Given the description of an element on the screen output the (x, y) to click on. 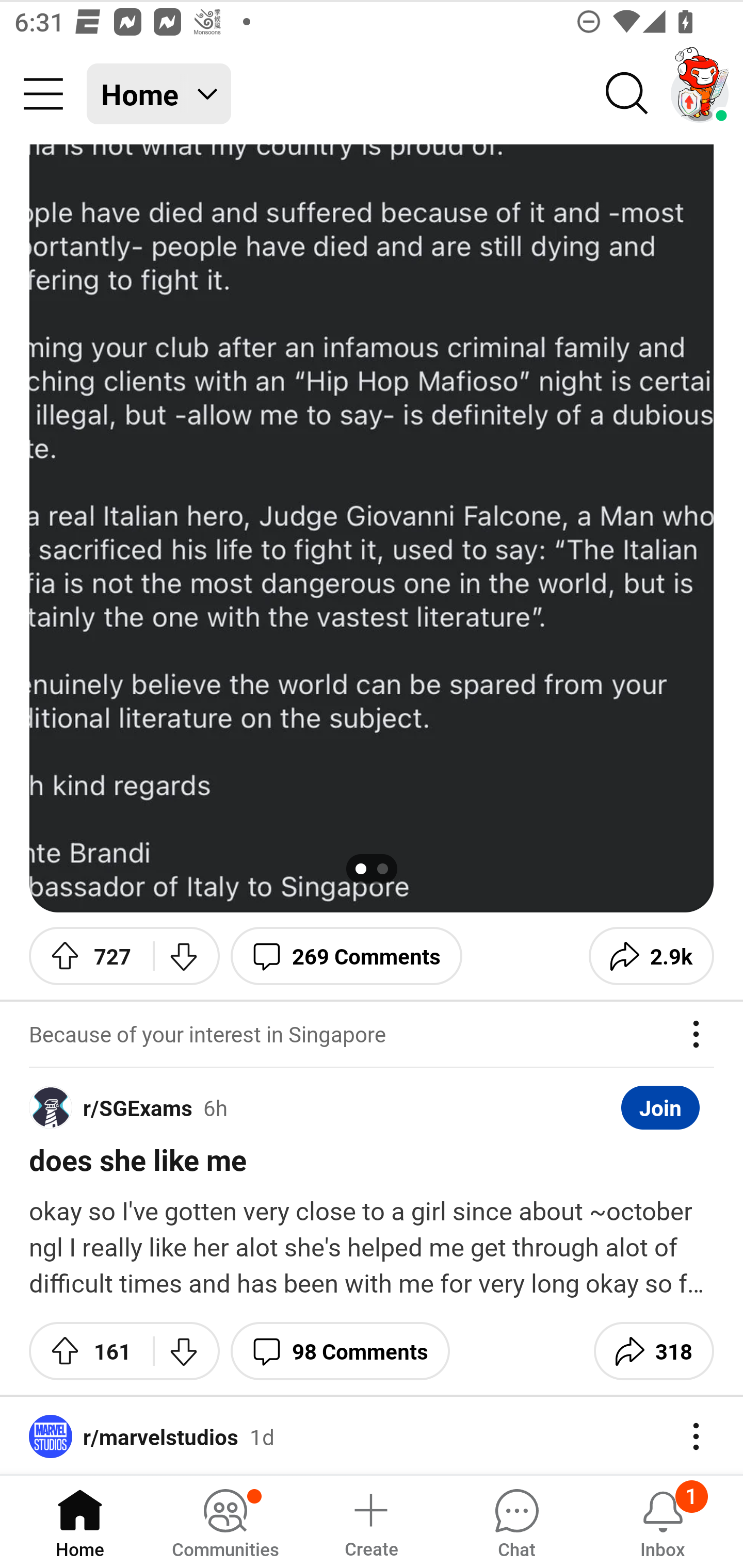
Community menu (43, 93)
Home Home feed (158, 93)
Search (626, 93)
TestAppium002 account (699, 93)
1 of 2, Image, In Image gallery (371, 528)
Home (80, 1520)
Communities, has notifications Communities (225, 1520)
Create a post Create (370, 1520)
Chat (516, 1520)
Inbox, has 1 notification 1 Inbox (662, 1520)
